Given the description of an element on the screen output the (x, y) to click on. 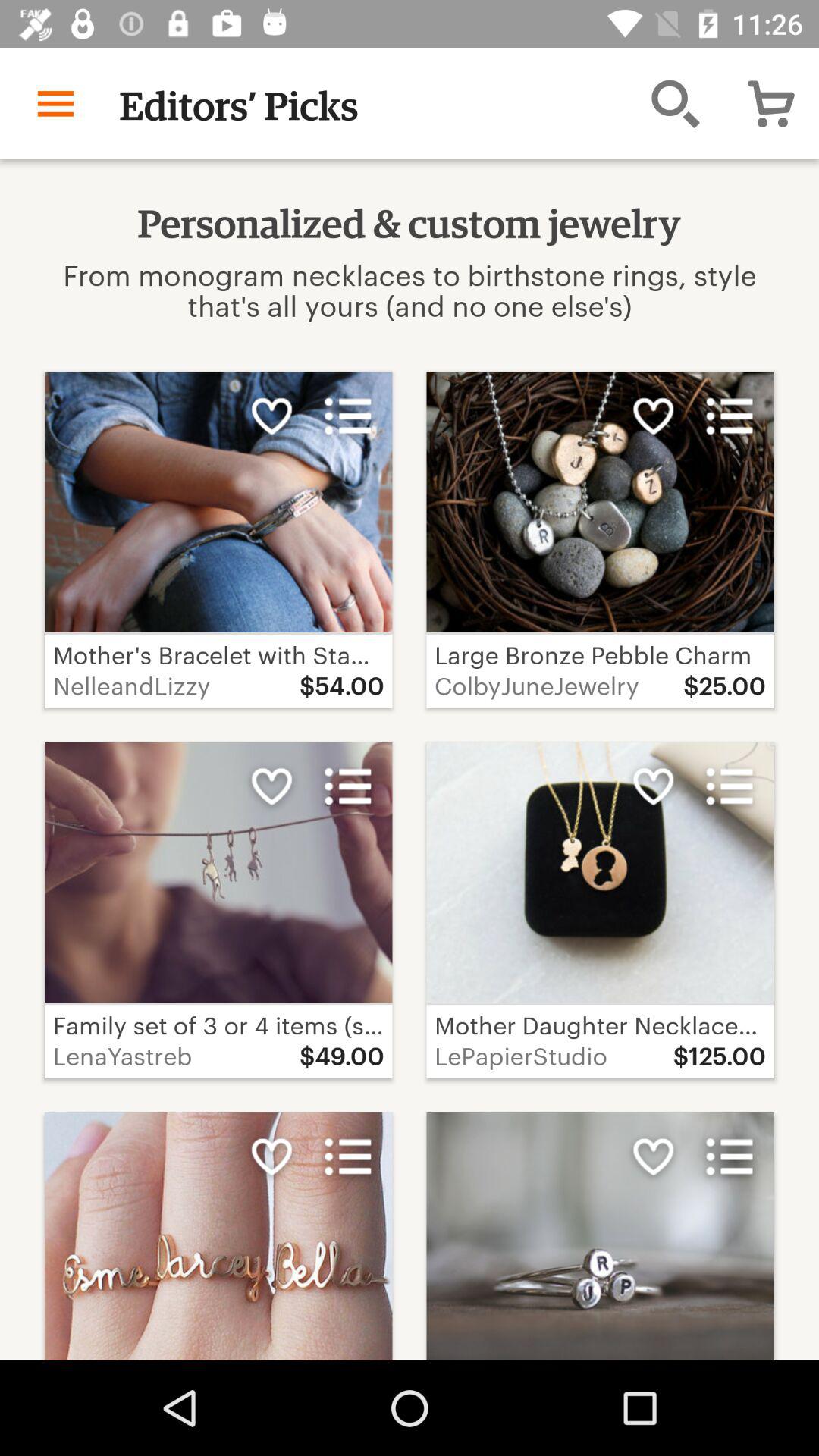
open icon above the from monogram necklaces (55, 103)
